Given the description of an element on the screen output the (x, y) to click on. 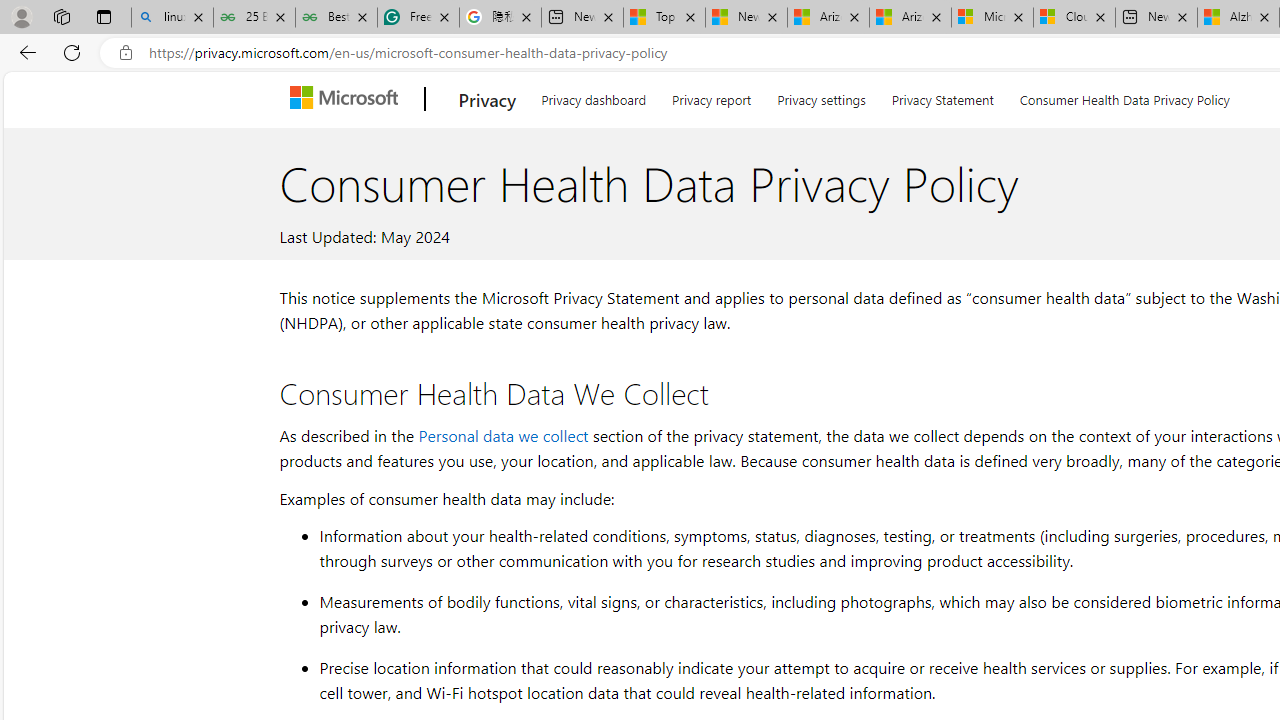
Free AI Writing Assistance for Students | Grammarly (418, 17)
Privacy Statement (942, 96)
Cloud Computing Services | Microsoft Azure (1074, 17)
Consumer Health Data Privacy Policy (1124, 96)
Consumer Health Data Privacy Policy (1124, 96)
Privacy Statement (942, 96)
Privacy dashboard (593, 96)
Microsoft Services Agreement (992, 17)
Privacy settings (821, 96)
Privacy (487, 99)
